Given the description of an element on the screen output the (x, y) to click on. 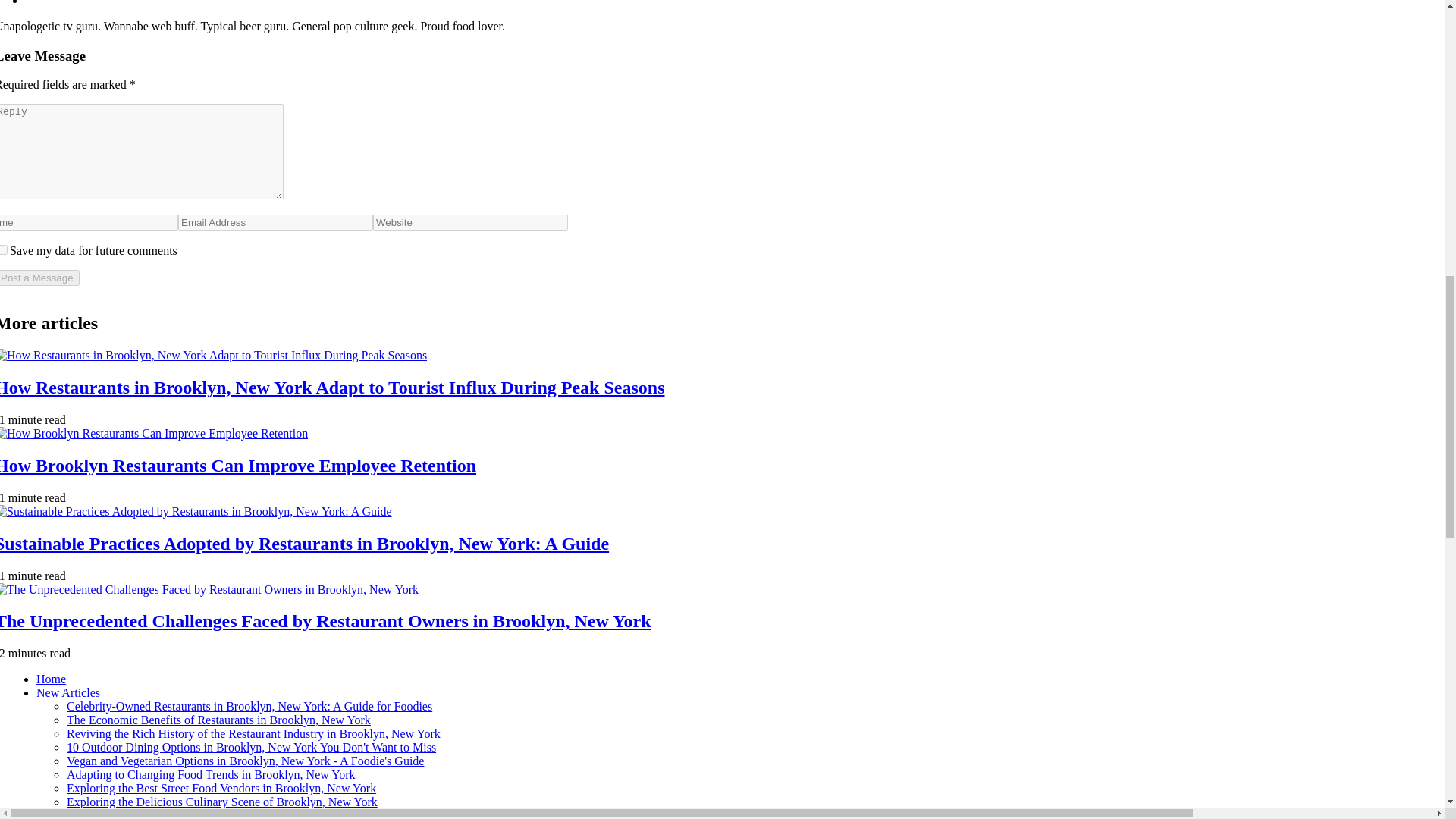
New Articles (68, 692)
How Brooklyn Restaurants Can Improve Employee Retention (238, 465)
The Economic Benefits of Restaurants in Brooklyn, New York (218, 719)
Post a Message (40, 277)
yes (3, 249)
Post a Message (40, 277)
Home (50, 678)
